Given the description of an element on the screen output the (x, y) to click on. 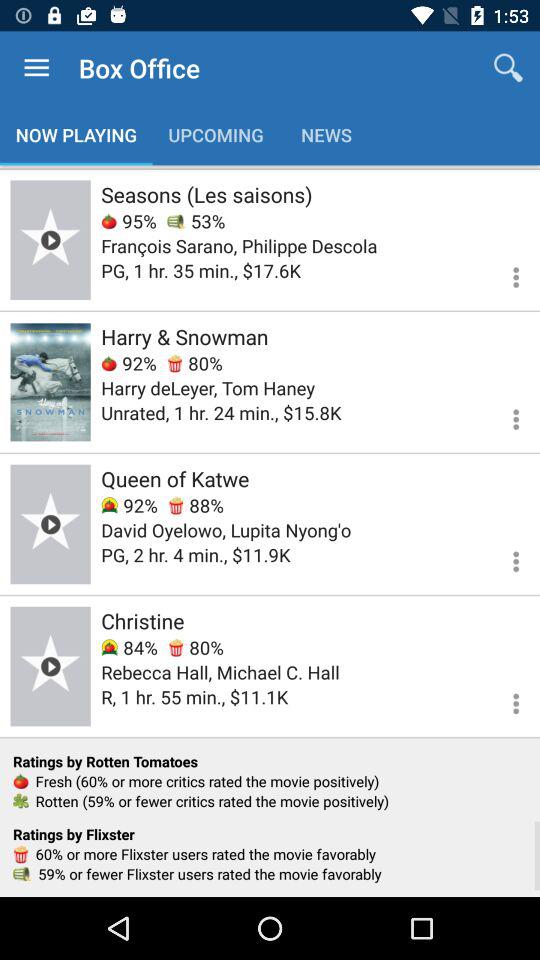
open item above now playing item (36, 68)
